Given the description of an element on the screen output the (x, y) to click on. 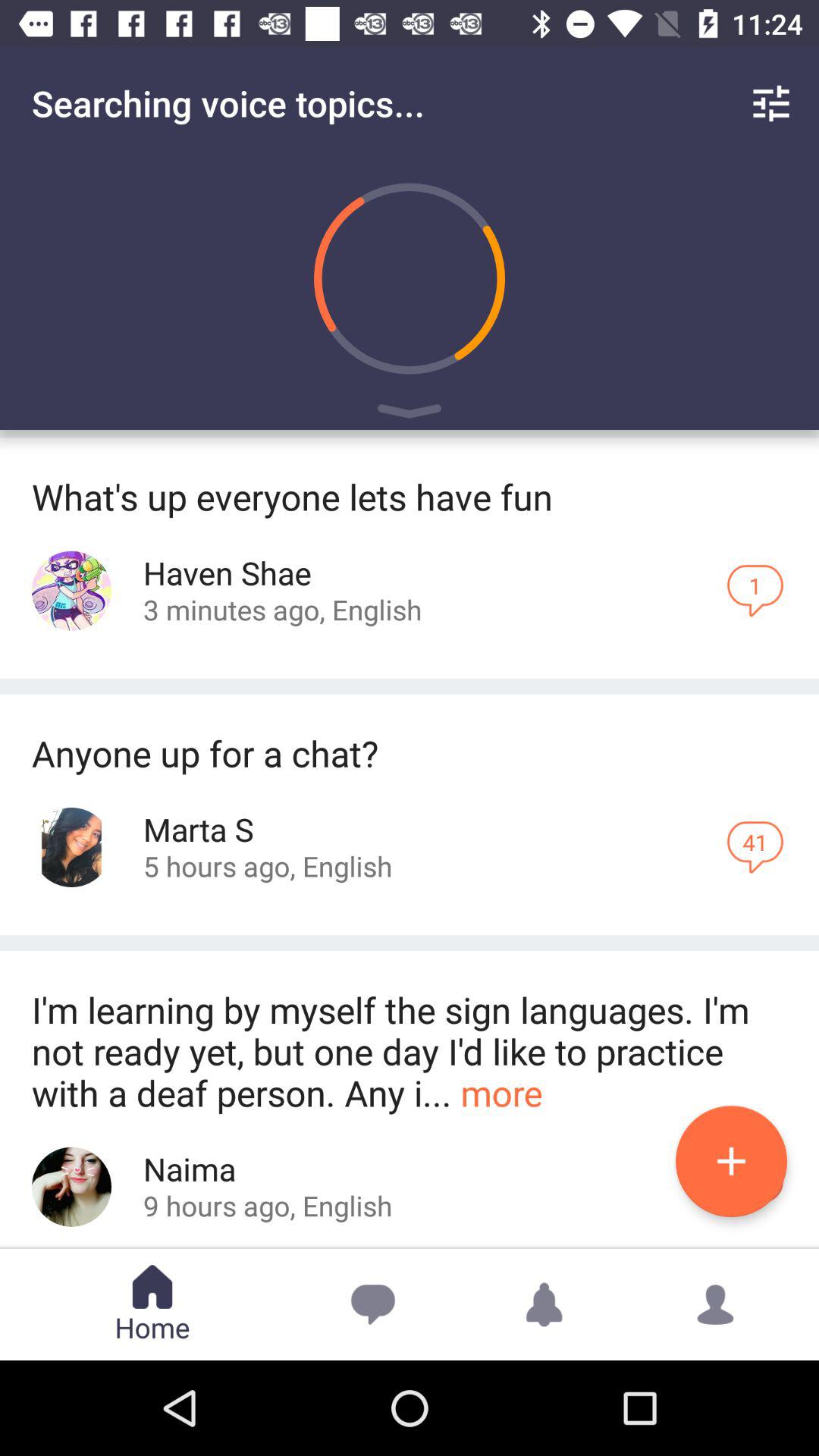
open user profile (71, 847)
